Given the description of an element on the screen output the (x, y) to click on. 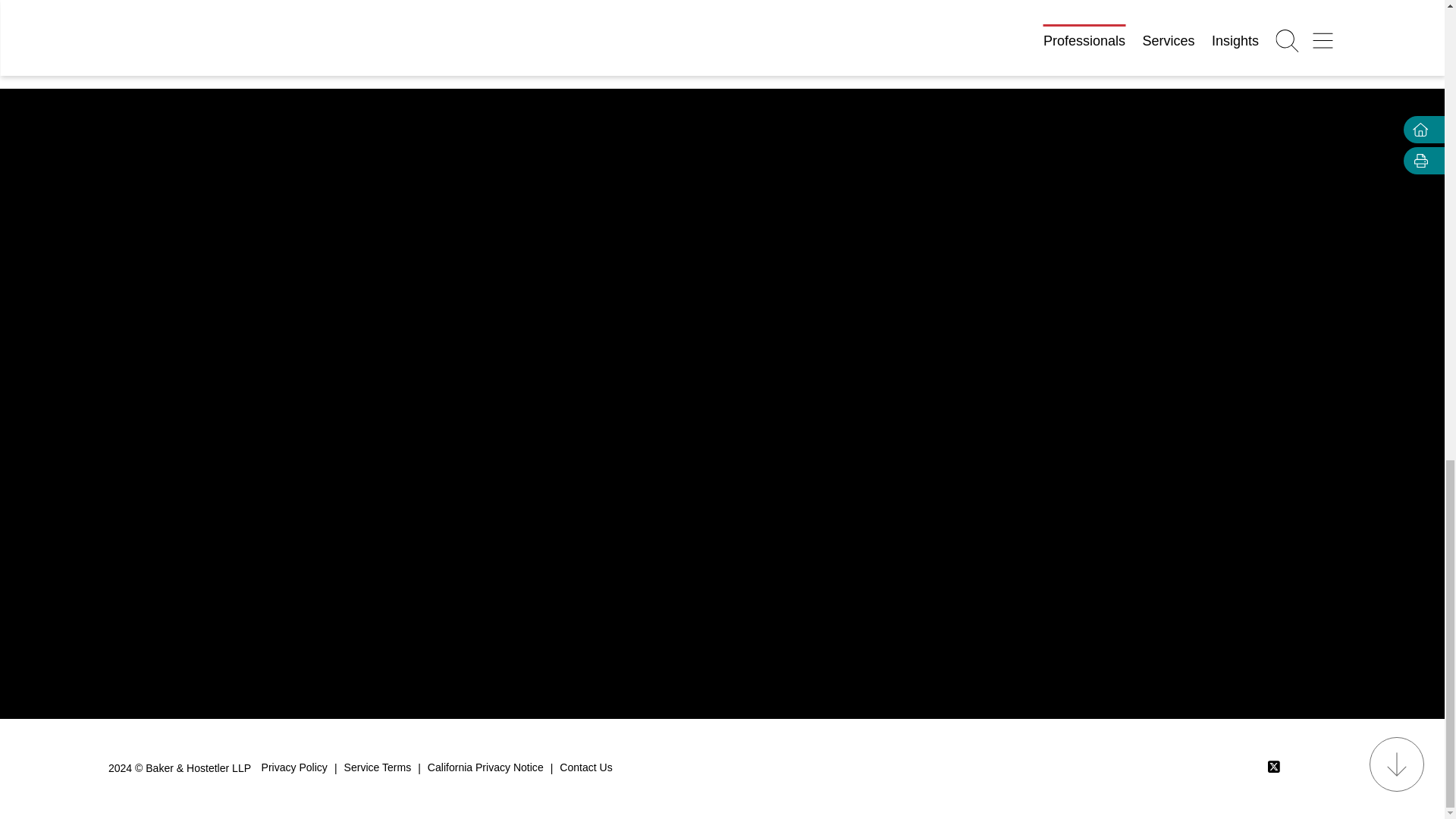
Service Terms (377, 768)
Contact Us (585, 768)
Antitrust and Competition (343, 13)
Litigation (471, 13)
Privacy Policy (294, 768)
California Privacy Notice (485, 768)
Commercial Litigation (180, 13)
Twitter (1274, 766)
Multidistrict Litigation (587, 13)
